Given the description of an element on the screen output the (x, y) to click on. 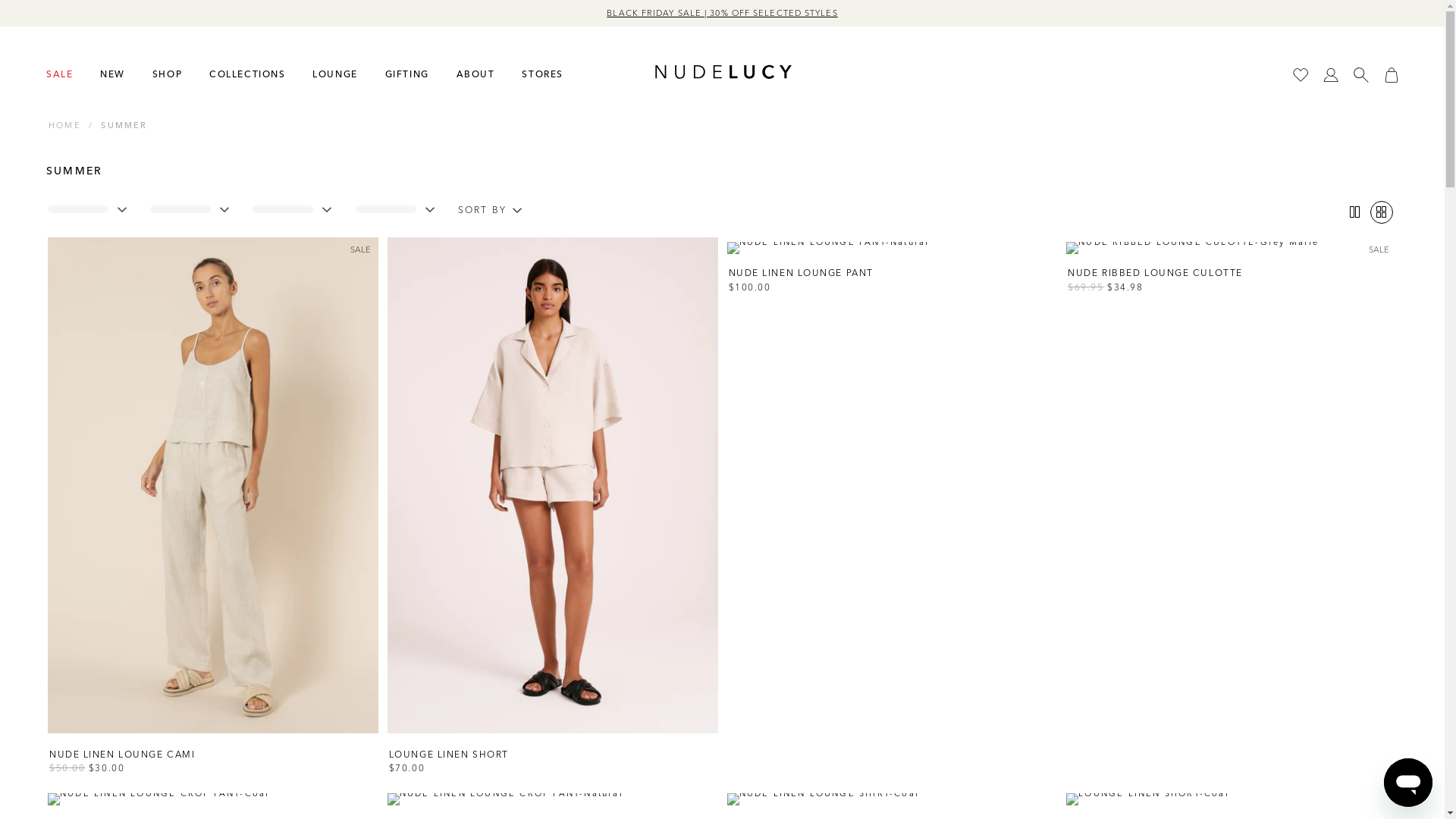
LOUNGE Element type: text (332, 72)
GIFTING Element type: text (404, 72)
LOUNGE LINEN SHORT
$70.00 Element type: text (552, 761)
NUDE LINEN LOUNGE PANT
$100.00 Element type: text (891, 279)
COLLECTIONS Element type: text (244, 72)
SHOP Element type: text (164, 72)
NEW Element type: text (110, 72)
Button to launch messaging window Element type: hover (1407, 782)
SALE Element type: text (57, 72)
STORES Element type: text (539, 72)
NUDE RIBBED LOUNGE CULOTTE
$69.95 $34.98 Element type: text (1231, 279)
NUDE LINEN LOUNGE CAMI
$50.00 $30.00 Element type: text (212, 761)
HOME Element type: text (64, 124)
BLACK FRIDAY SALE | 30% OFF SELECTED STYLES Element type: text (721, 12)
ABOUT Element type: text (473, 72)
